Given the description of an element on the screen output the (x, y) to click on. 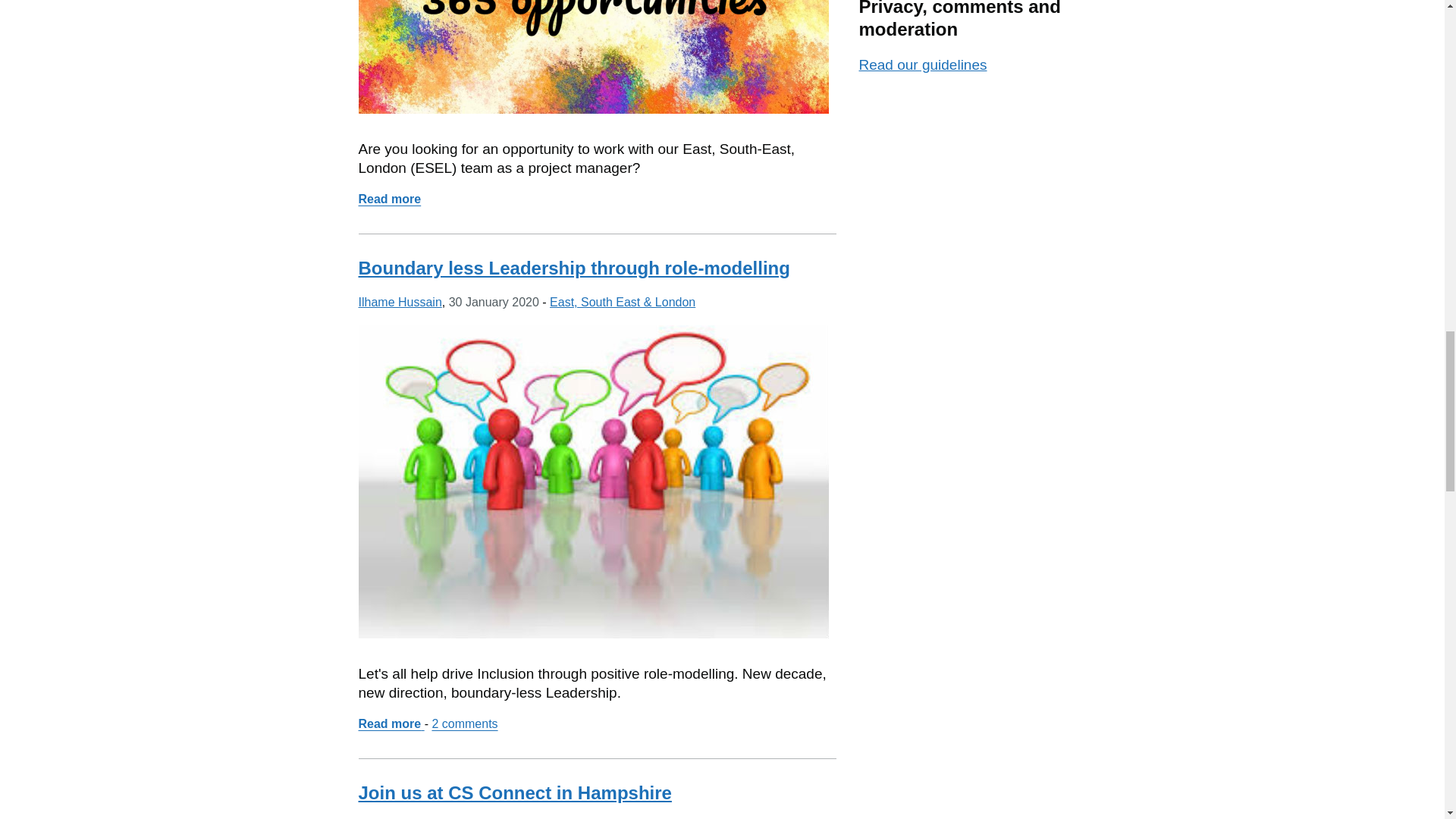
2 comments (463, 723)
Ilhame Hussain (399, 301)
Join us at CS Connect in Hampshire (389, 198)
Boundary less Leadership through role-modelling (514, 792)
Posts by Ilhame Hussain (573, 267)
